Given the description of an element on the screen output the (x, y) to click on. 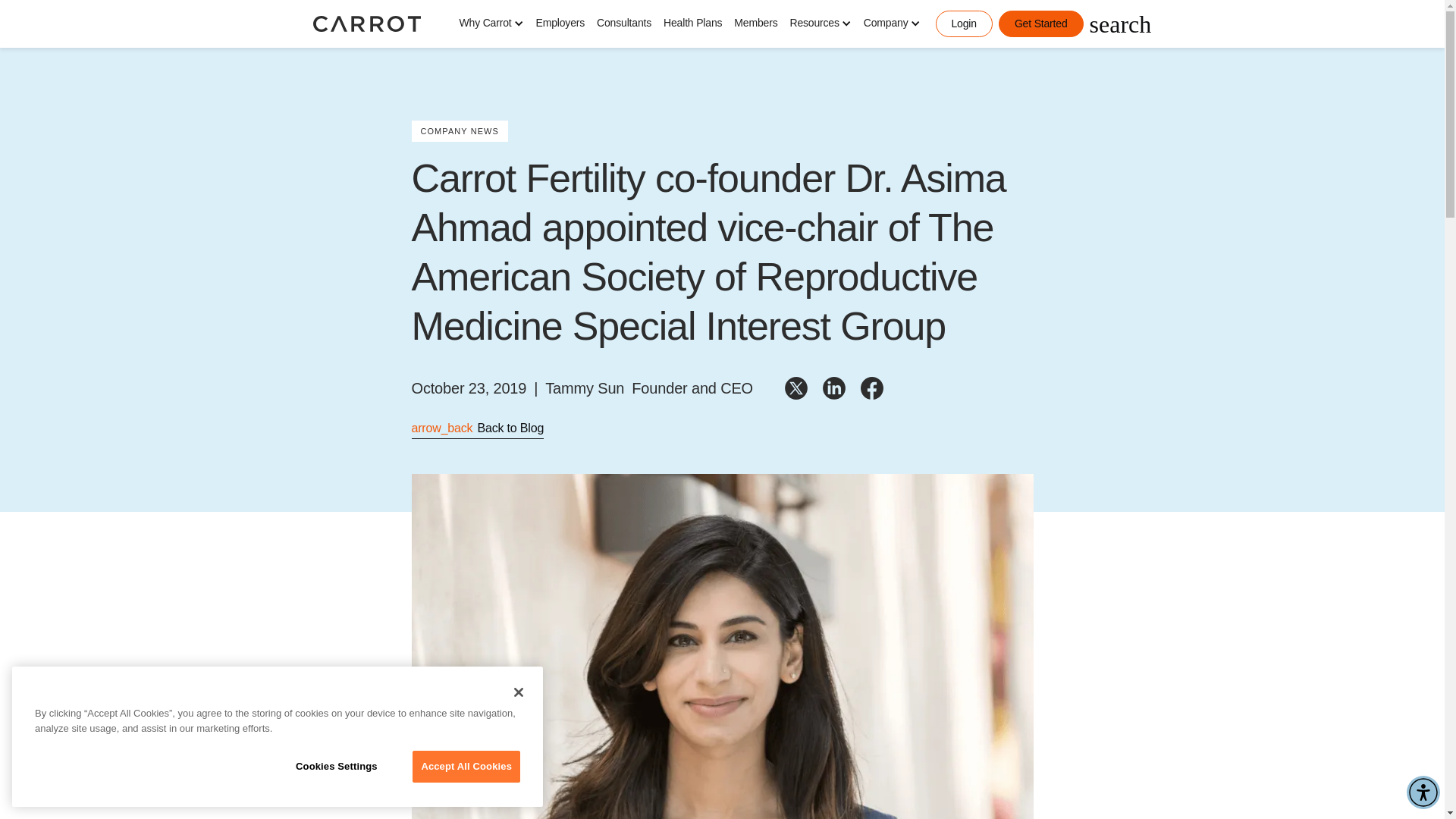
Login (964, 23)
Employers (560, 22)
Consultants (624, 22)
Get Started (1040, 23)
Health Plans (693, 22)
Accessibility Menu (1422, 792)
Members (755, 22)
search (1120, 23)
